Given the description of an element on the screen output the (x, y) to click on. 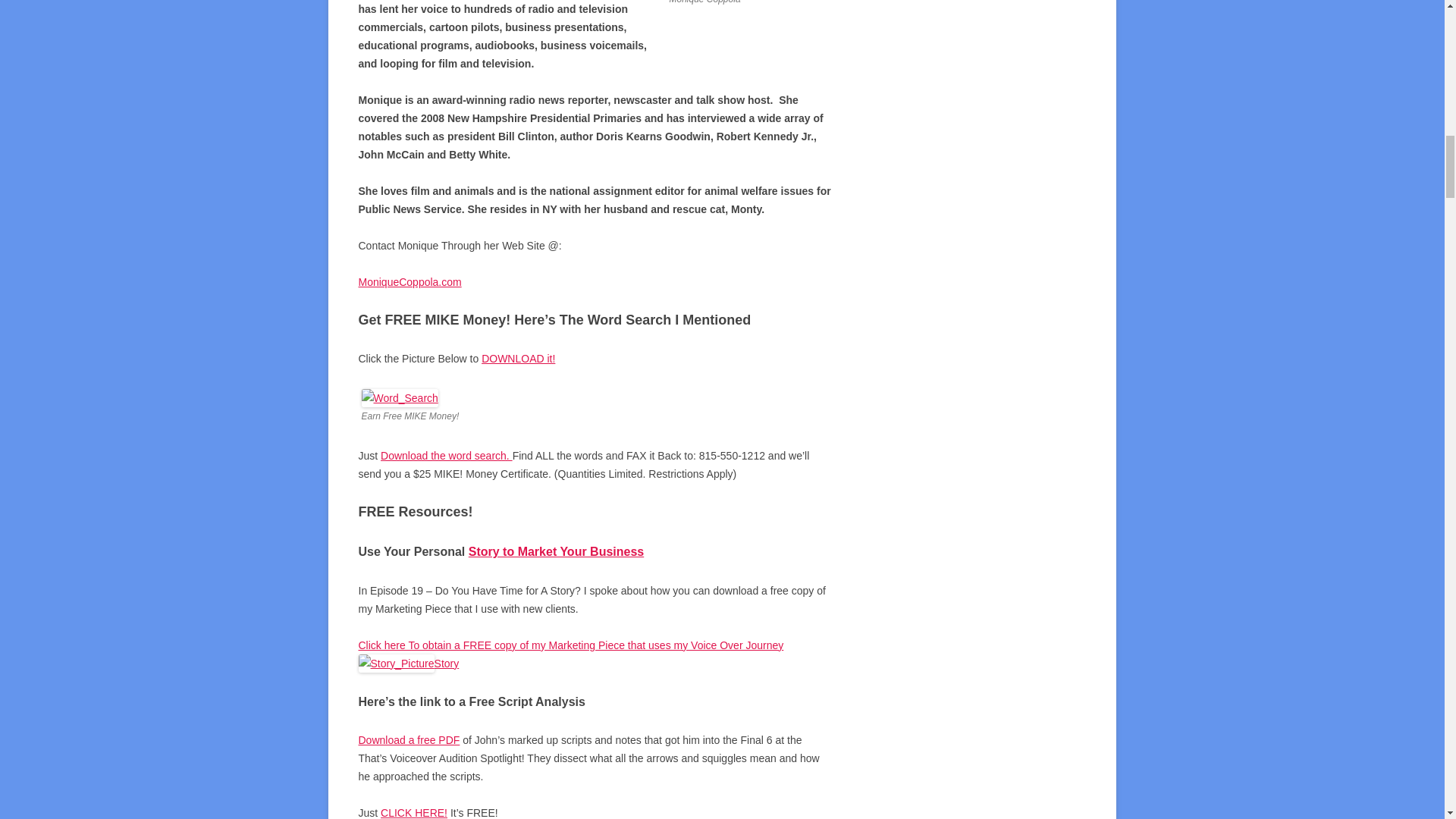
MoniqueCoppola.com (409, 282)
MoniqueCoppola.com (409, 282)
Story to Market Your Business (555, 551)
Download the word search. (446, 455)
VO Podcast Word Search (517, 358)
Script Analysis PDF (409, 739)
Download a free PDF (409, 739)
CLICK HERE! (413, 812)
DOWNLOAD it! (517, 358)
